Given the description of an element on the screen output the (x, y) to click on. 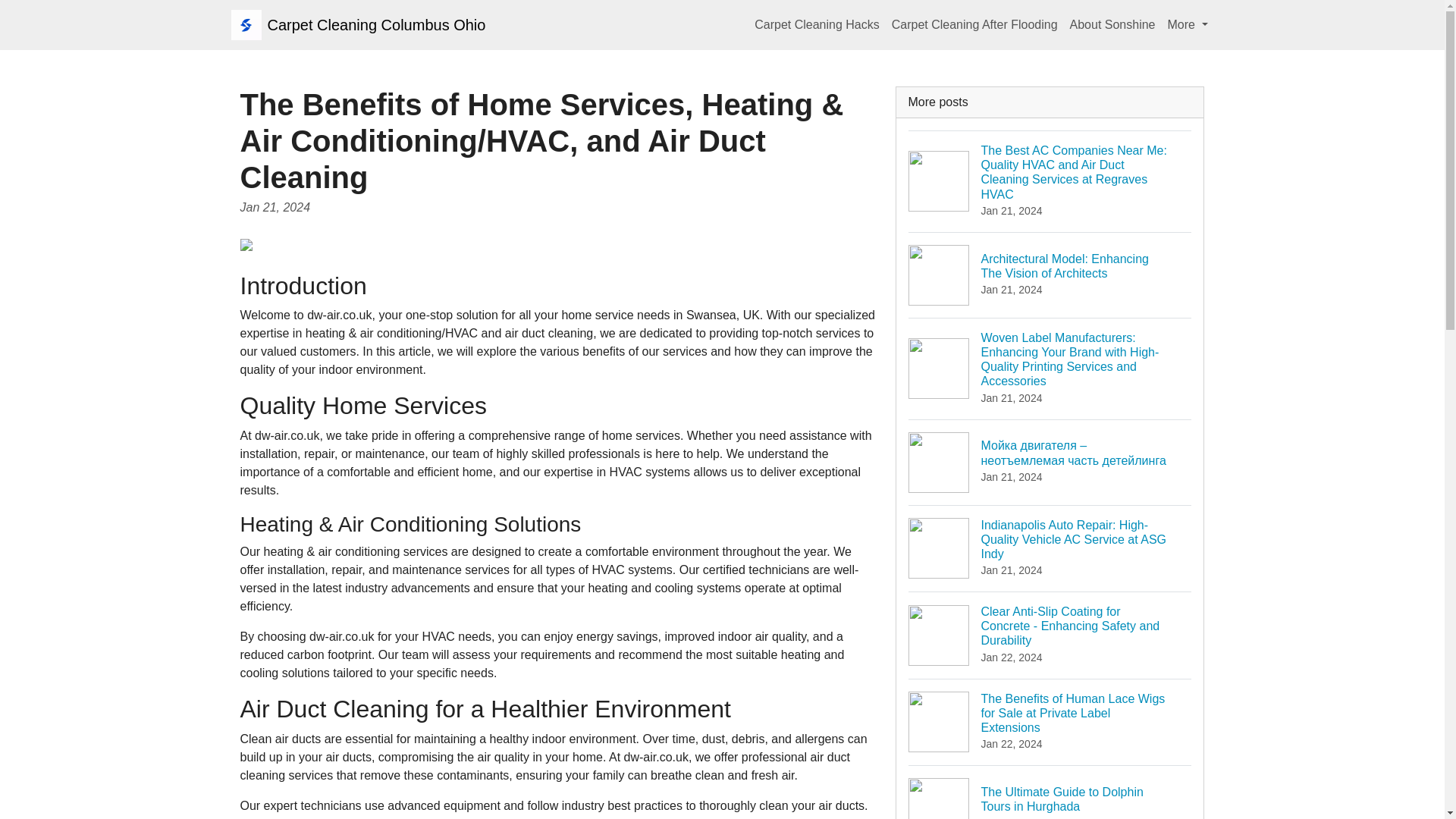
About Sonshine (1112, 24)
Carpet Cleaning Columbus Ohio (357, 24)
Carpet Cleaning After Flooding (974, 24)
Carpet Cleaning Hacks (1050, 791)
More (816, 24)
